Given the description of an element on the screen output the (x, y) to click on. 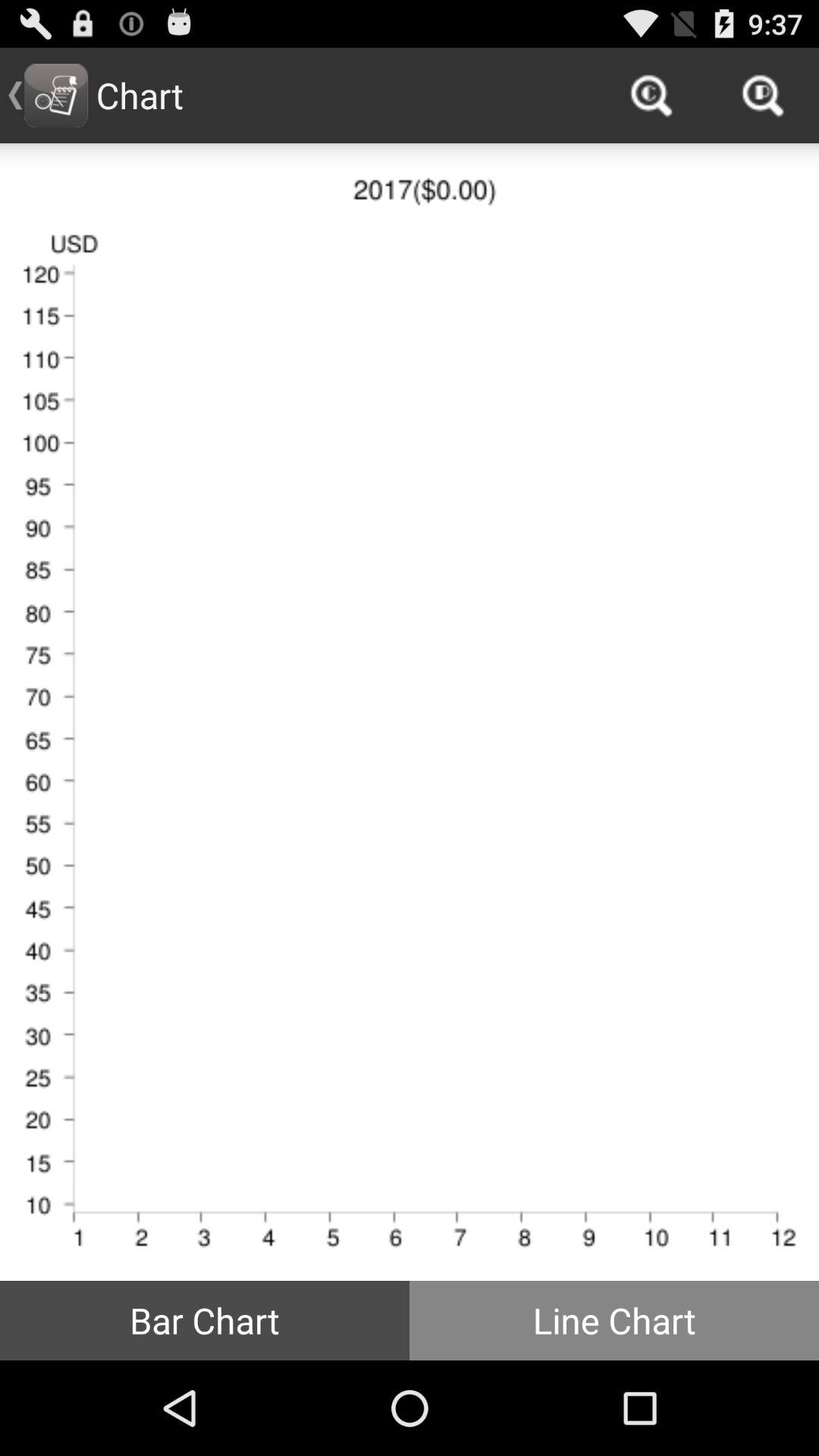
turn on line chart button (614, 1320)
